Given the description of an element on the screen output the (x, y) to click on. 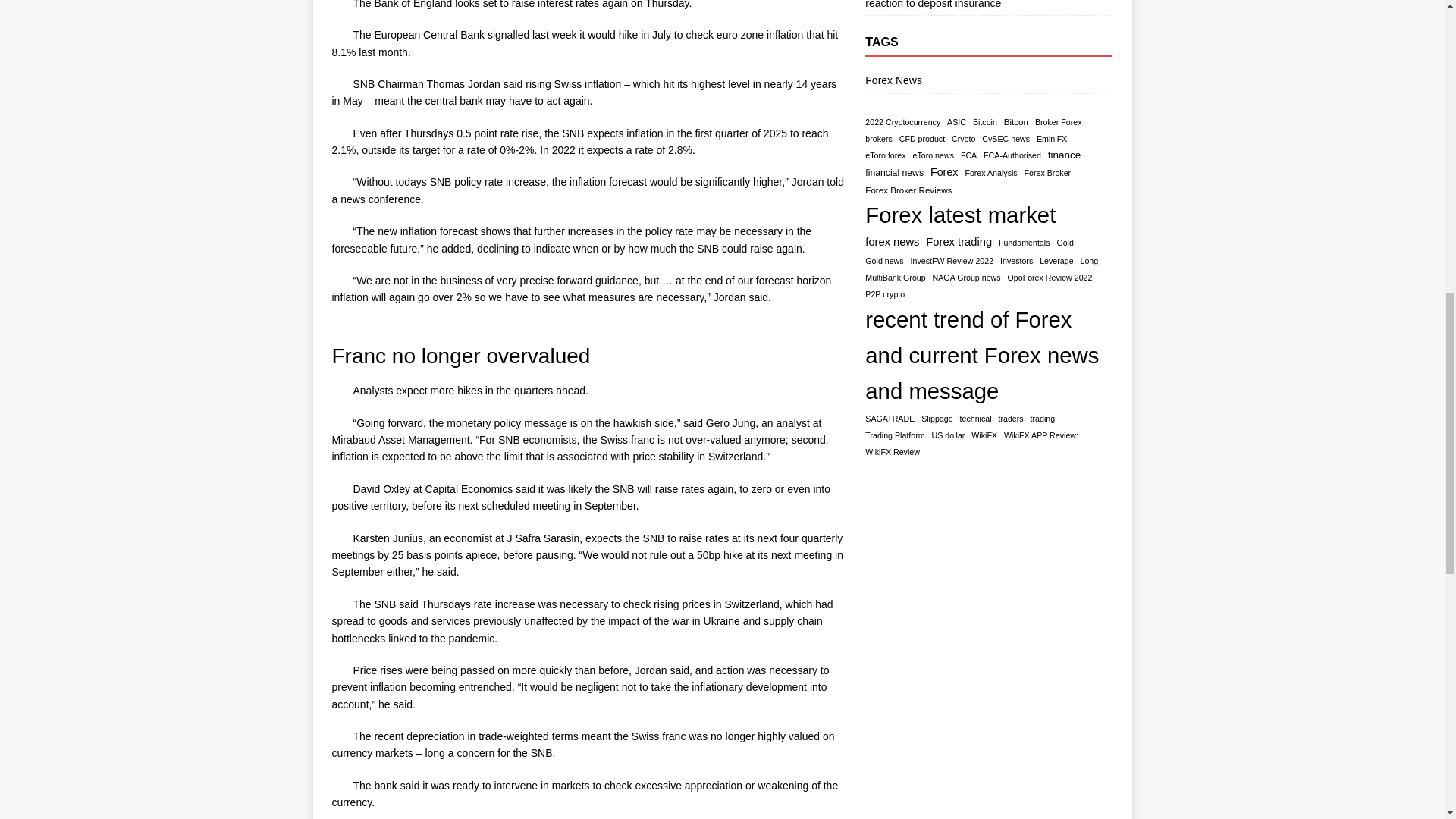
Bitcoin (984, 122)
ASIC (956, 122)
CFD product (921, 138)
brokers (878, 138)
Forex News (988, 82)
Broker Forex (1058, 122)
2022 Cryptocurrency (902, 122)
Bitcon (1015, 122)
